Given the description of an element on the screen output the (x, y) to click on. 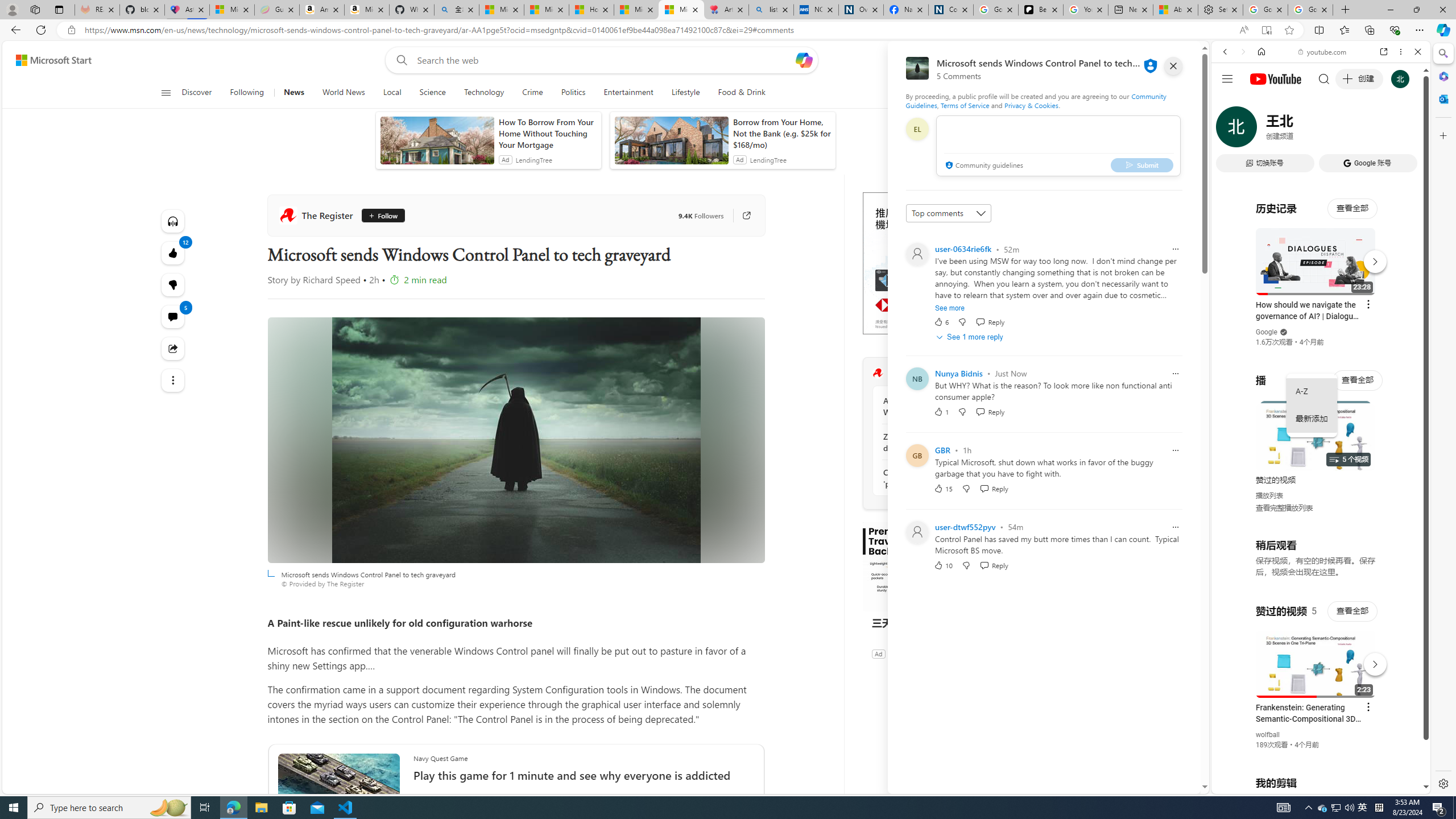
you (1315, 755)
Class: qc-adchoices-link top-right  (1027, 196)
Crime (532, 92)
Profile Picture (916, 531)
Advertisement (947, 263)
View comments 5 Comment (172, 316)
12 Like (172, 252)
Politics (572, 92)
Personalize (1006, 92)
